Given the description of an element on the screen output the (x, y) to click on. 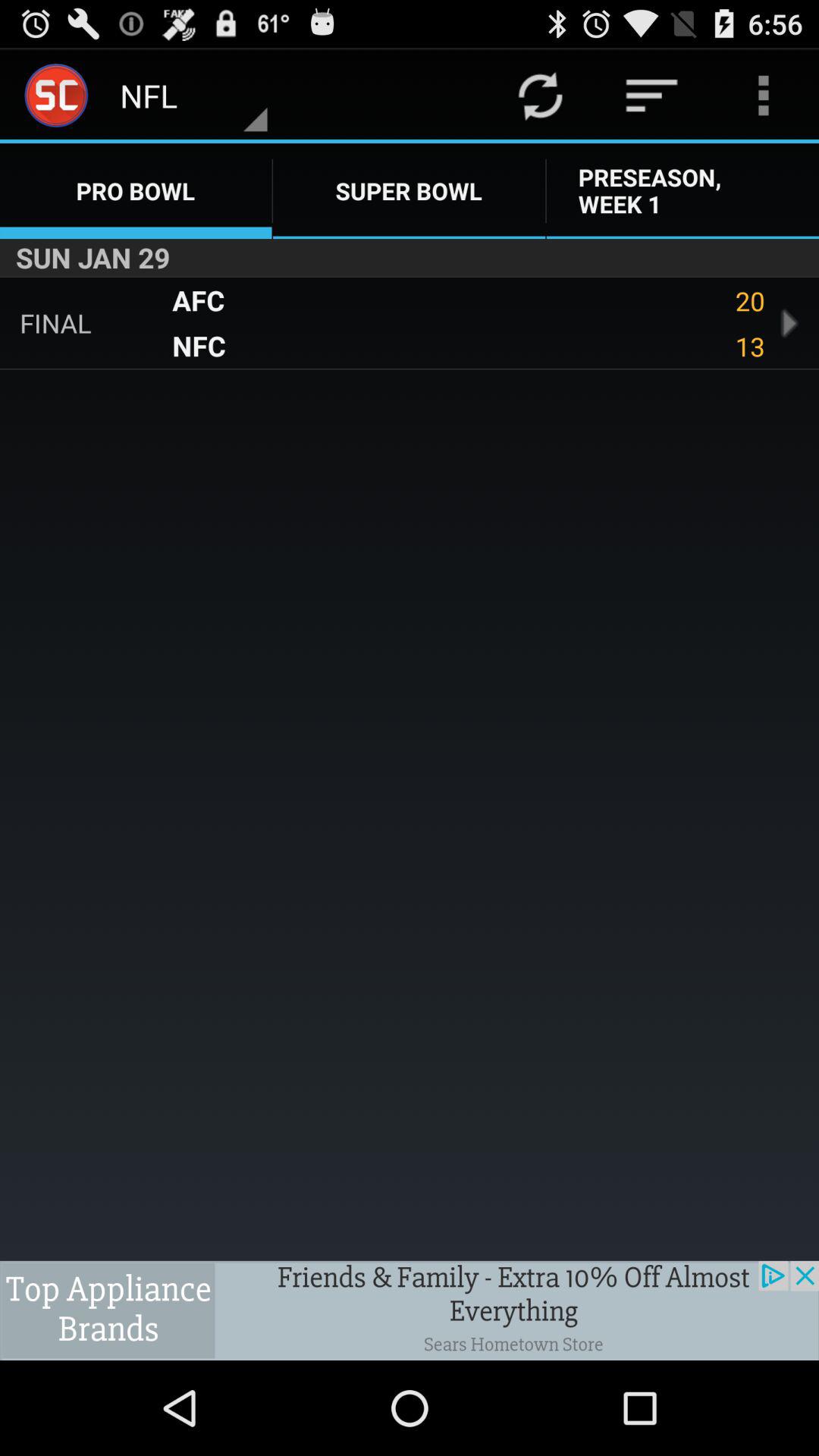
tap the advertisement (409, 1310)
